Given the description of an element on the screen output the (x, y) to click on. 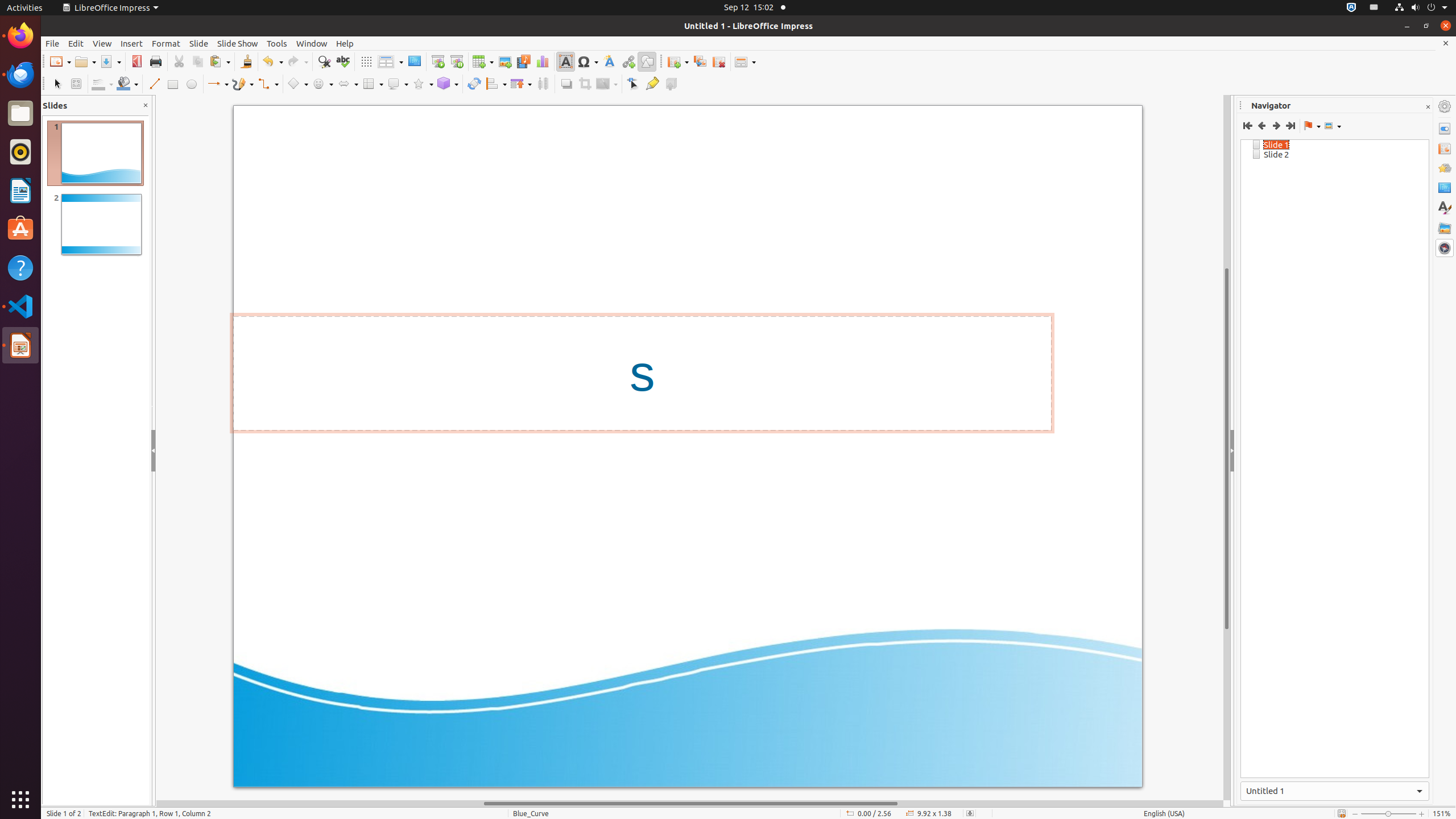
Line Color Element type: push-button (101, 83)
Glue Points Element type: push-button (651, 83)
3D Objects Element type: push-button (447, 83)
Visual Studio Code Element type: push-button (20, 306)
Undo Element type: push-button (271, 61)
